Given the description of an element on the screen output the (x, y) to click on. 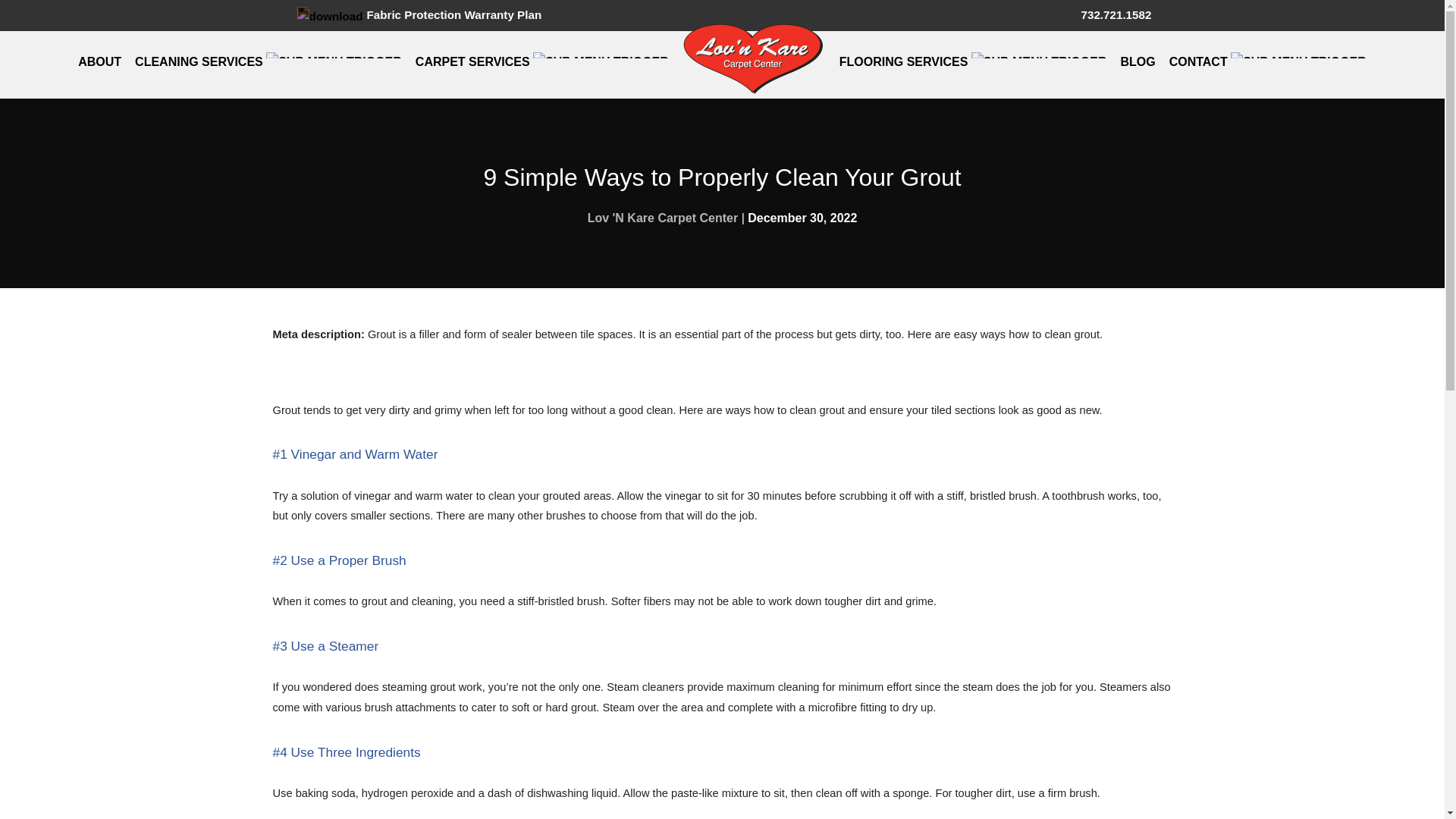
FLOORING SERVICES (972, 60)
732.721.1582 (1104, 14)
Call today (1104, 14)
December 30, 2022 (802, 217)
CONTACT (1268, 60)
CLEANING SERVICES (268, 60)
Fabric Protection Warranty Plan (417, 14)
CARPET SERVICES (541, 60)
Lov 'N Kare Carpet Center (663, 217)
Fabric Protection Warranty Plan (417, 14)
